Given the description of an element on the screen output the (x, y) to click on. 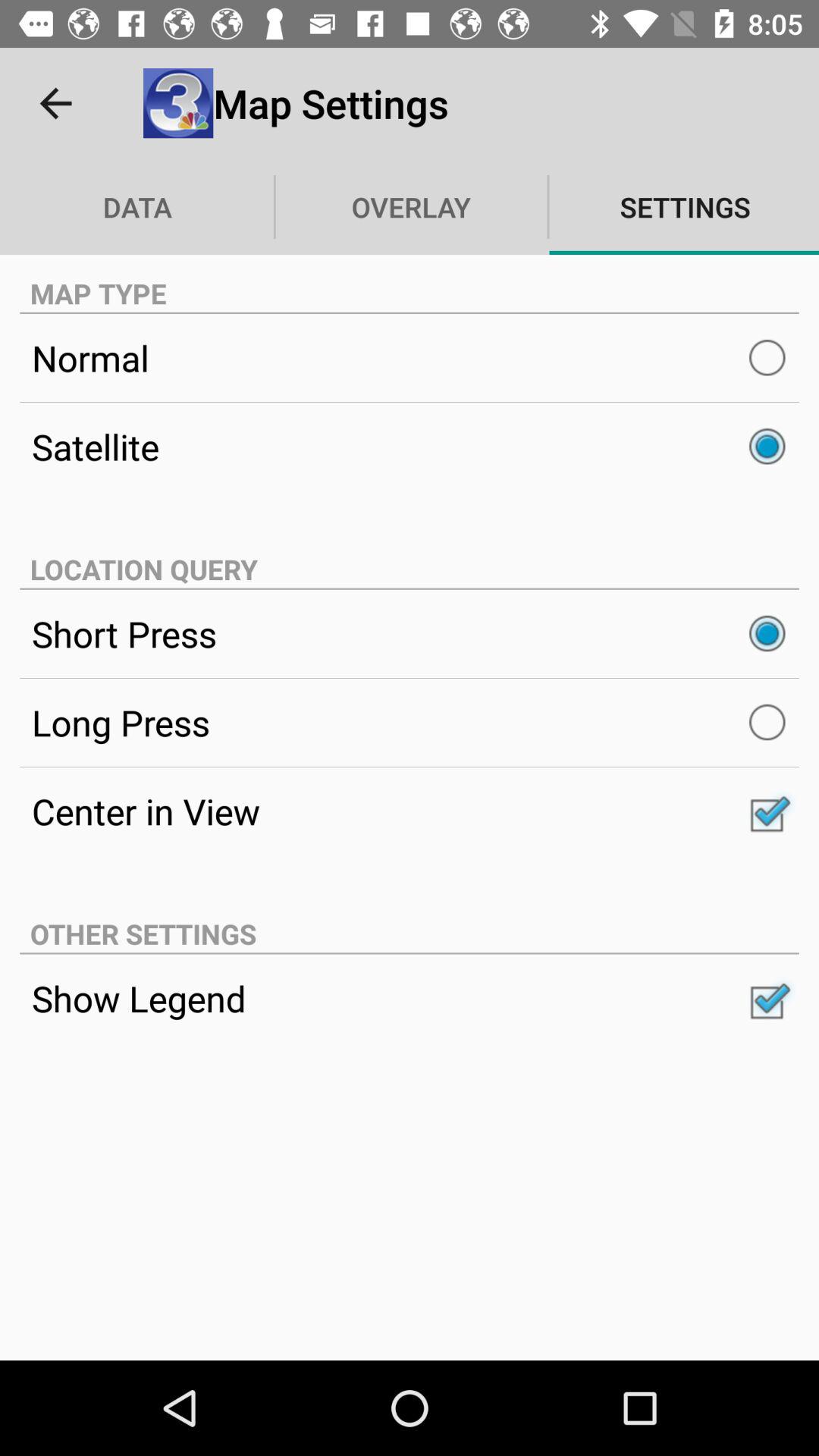
turn off the show legend icon (409, 998)
